Given the description of an element on the screen output the (x, y) to click on. 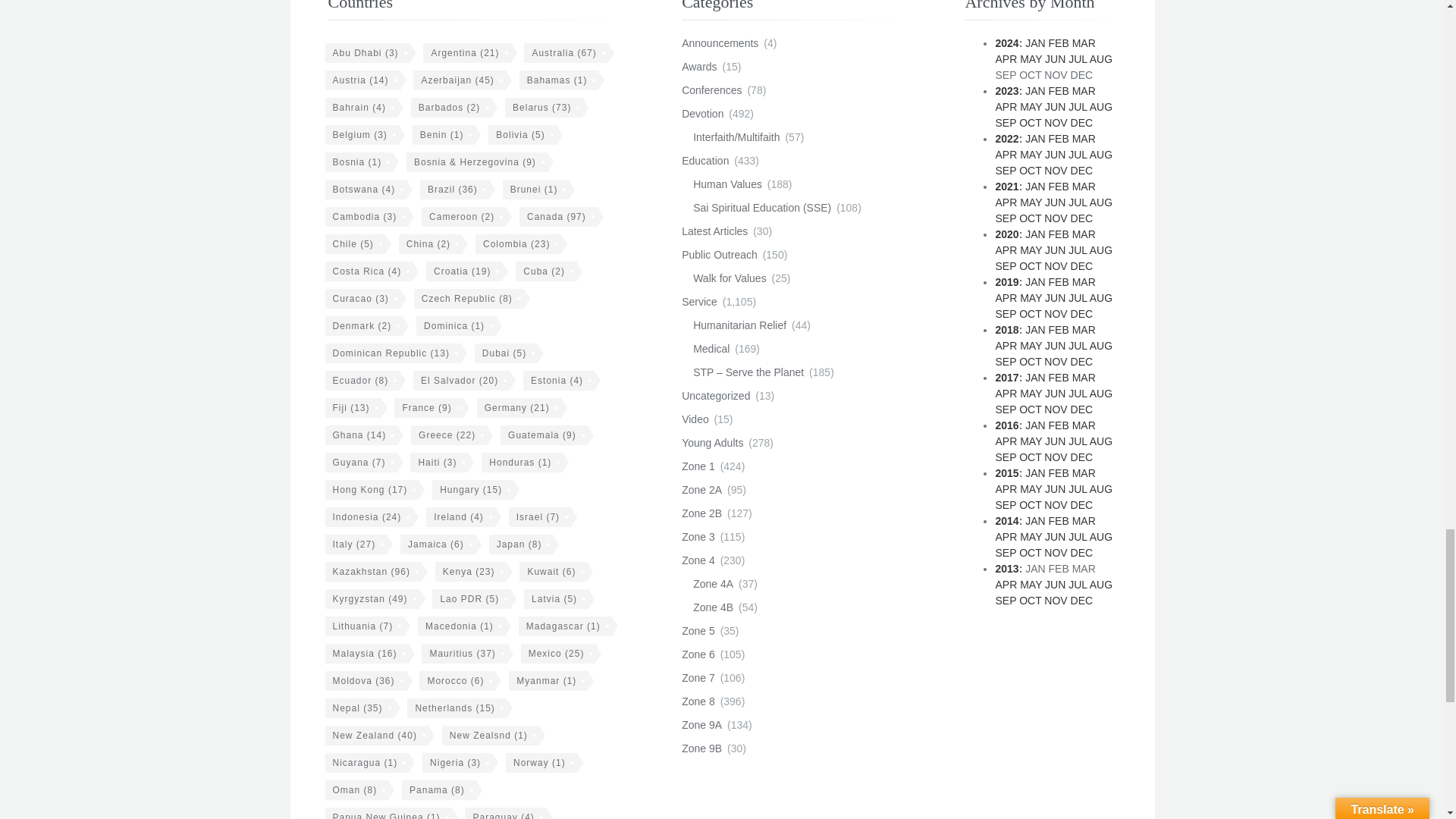
Newly added reports. (714, 231)
Awards given to the Sai Organisation (698, 66)
